Given the description of an element on the screen output the (x, y) to click on. 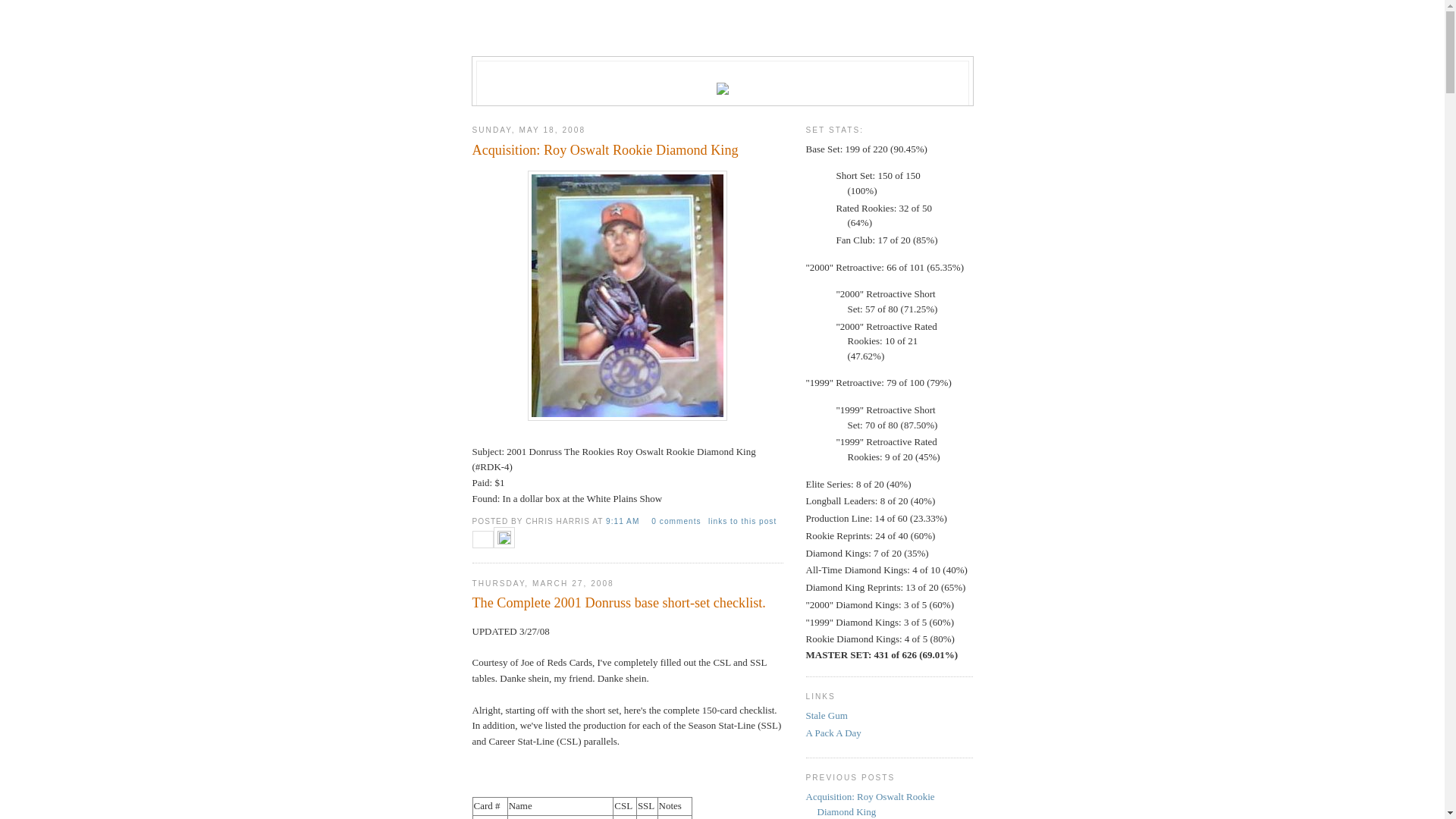
Email Post Element type: hover (481, 540)
Stale Gum Element type: text (826, 715)
0 comments Element type: text (675, 521)
9:11 AM Element type: text (623, 521)
Edit Post Element type: hover (503, 540)
links to this post Element type: text (742, 521)
Acquisition: Roy Oswalt Rookie Diamond King Element type: text (869, 803)
Blogger Navigation and Search Element type: hover (722, 41)
A Pack A Day Element type: text (832, 732)
